Given the description of an element on the screen output the (x, y) to click on. 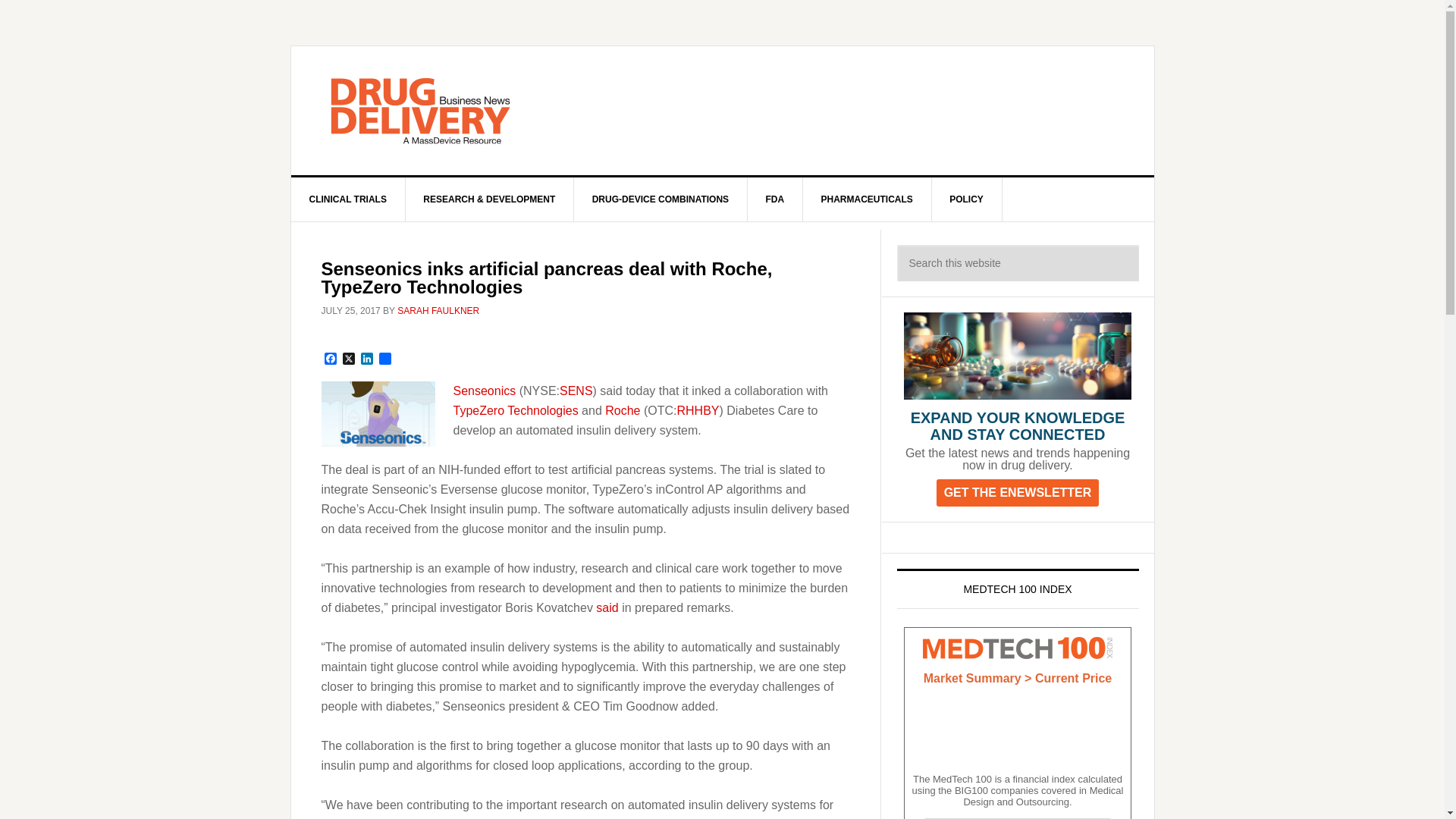
FDA (774, 199)
Facebook (330, 359)
TypeZero Technologies (515, 409)
PHARMACEUTICALS (866, 199)
Facebook (330, 359)
SENS (575, 390)
Roche (622, 409)
LinkedIn (366, 359)
DRUG DELIVERY BUSINESS (419, 110)
